Given the description of an element on the screen output the (x, y) to click on. 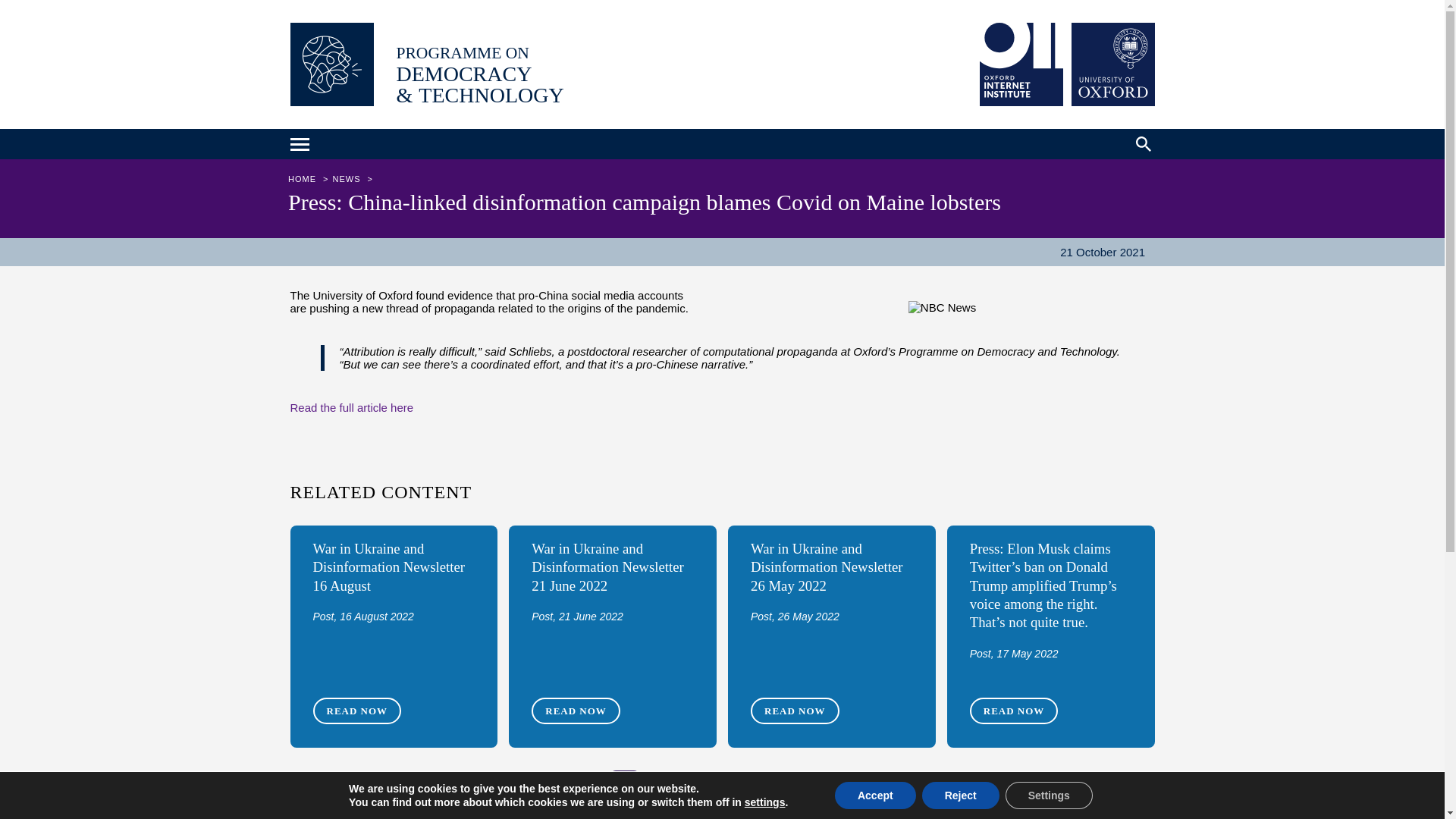
Main menu (301, 145)
HOME (304, 178)
